Given the description of an element on the screen output the (x, y) to click on. 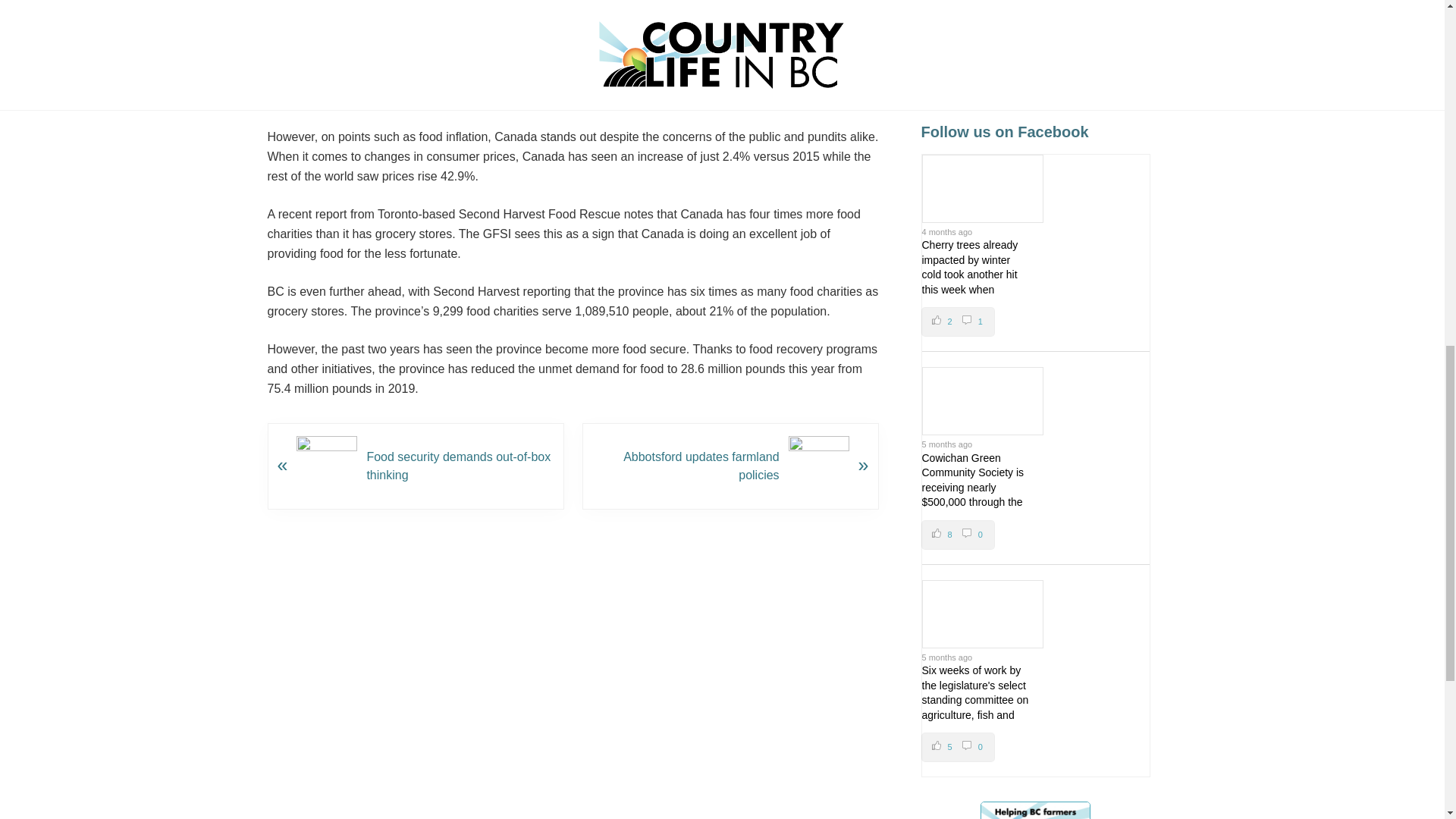
Sign up (1035, 24)
Sign up (957, 321)
